Given the description of an element on the screen output the (x, y) to click on. 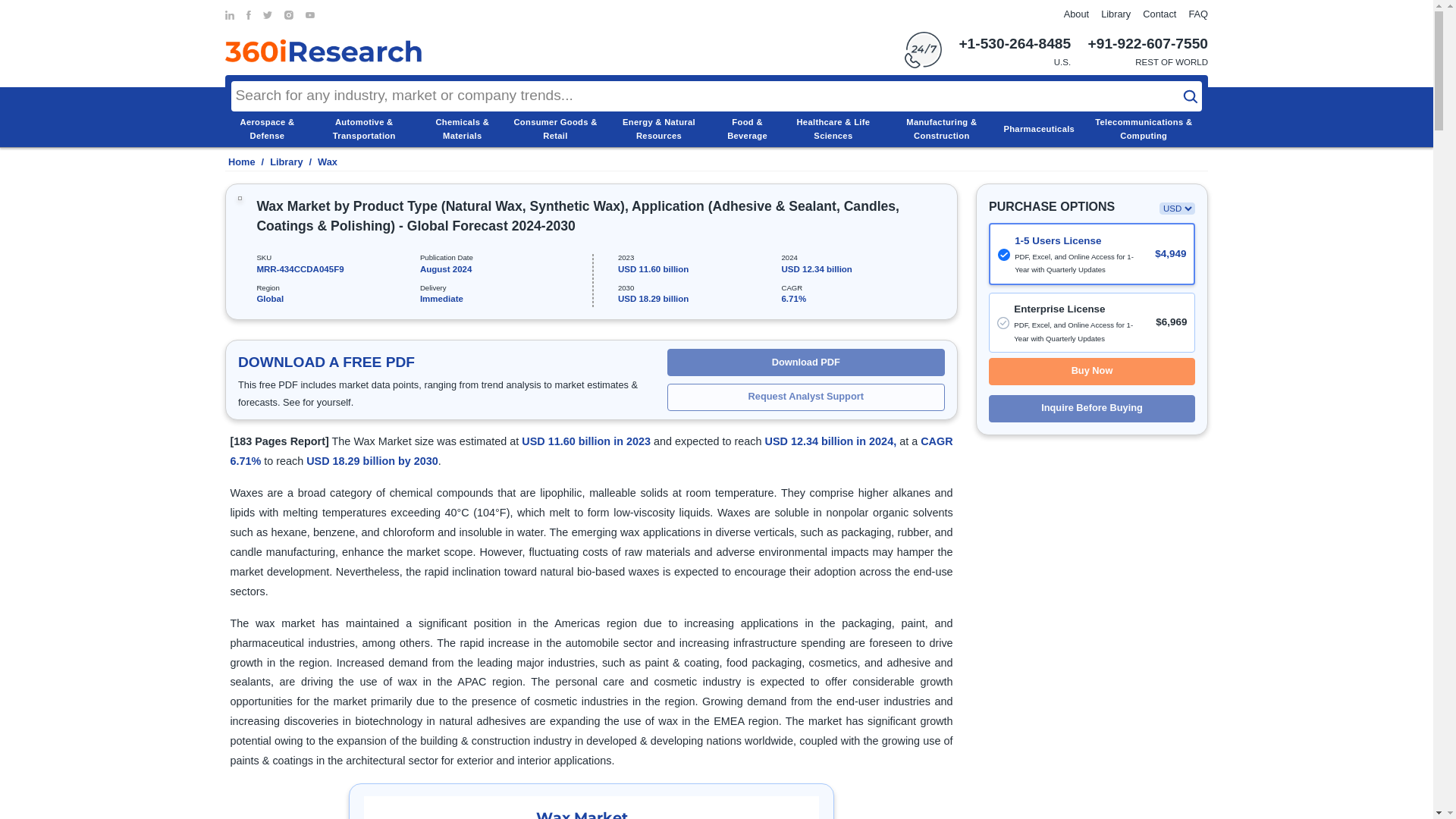
About (1076, 13)
Wax (327, 161)
Pharmaceuticals (1038, 128)
360iResearch 24-7 (923, 49)
Contact (1159, 13)
360iResearch Twitter (267, 14)
Inquire Before Buying (1091, 408)
Buy Now (1091, 370)
Library (285, 161)
FAQ (1198, 13)
